Given the description of an element on the screen output the (x, y) to click on. 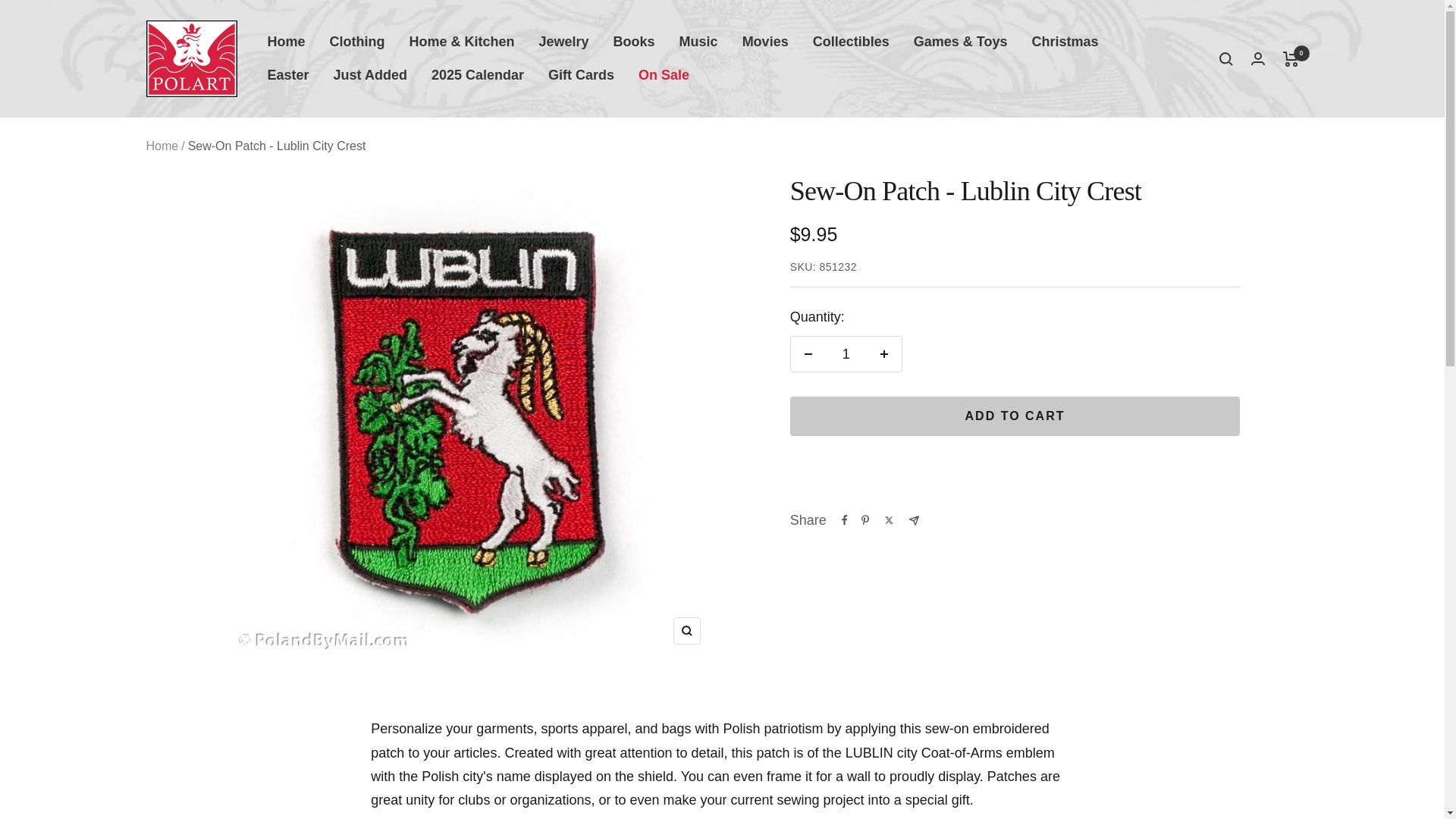
Just Added (370, 74)
Decrease quantity (807, 353)
1 (845, 353)
Easter (287, 74)
Collectibles (850, 42)
Clothing (357, 42)
Music (698, 42)
Home (285, 42)
Gift Cards (581, 74)
ADD TO CART (1015, 415)
